Given the description of an element on the screen output the (x, y) to click on. 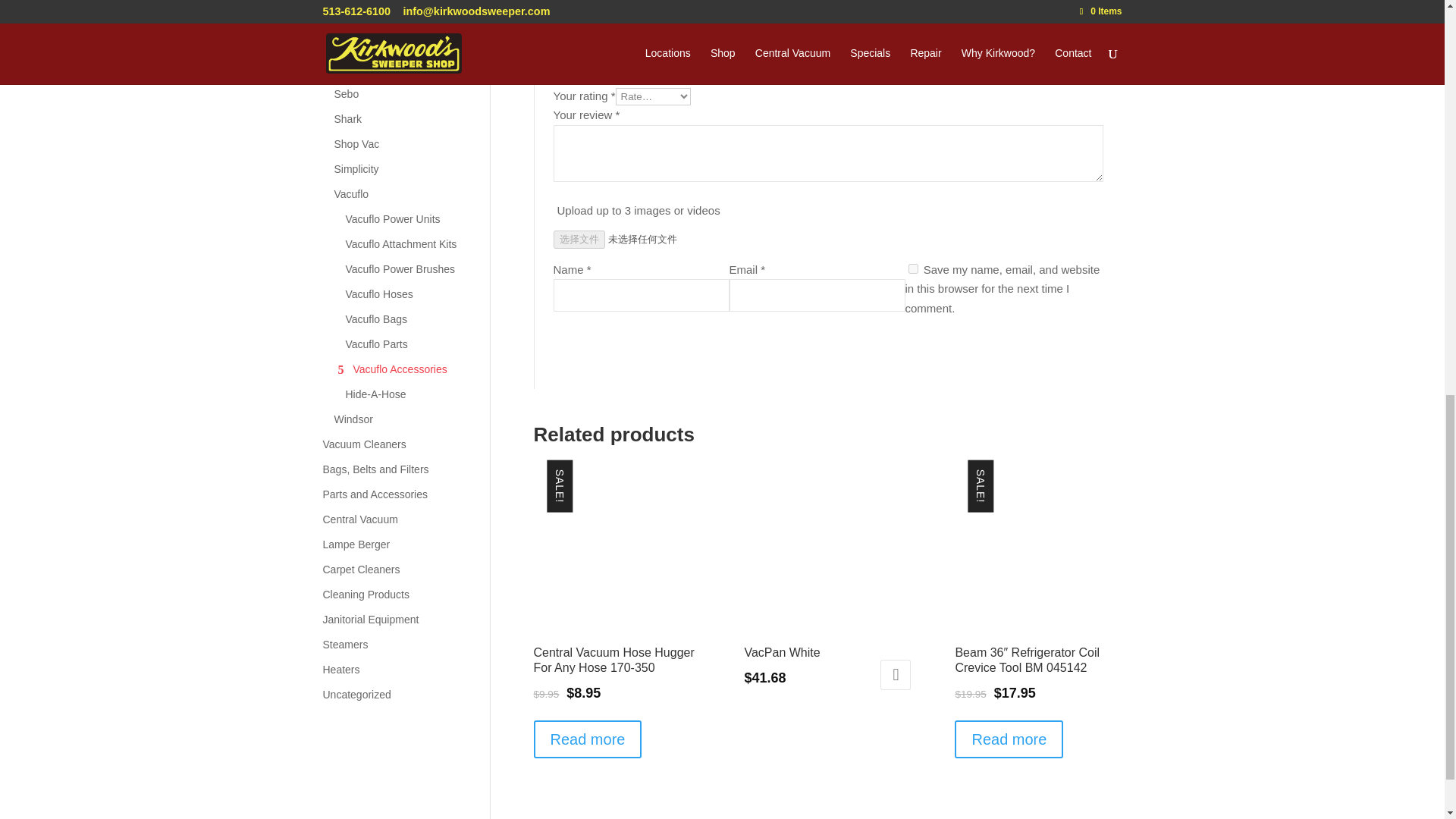
Add to cart (895, 675)
Submit (1063, 351)
Read more (588, 739)
Read more (1008, 739)
yes (913, 268)
Submit (1063, 351)
